Given the description of an element on the screen output the (x, y) to click on. 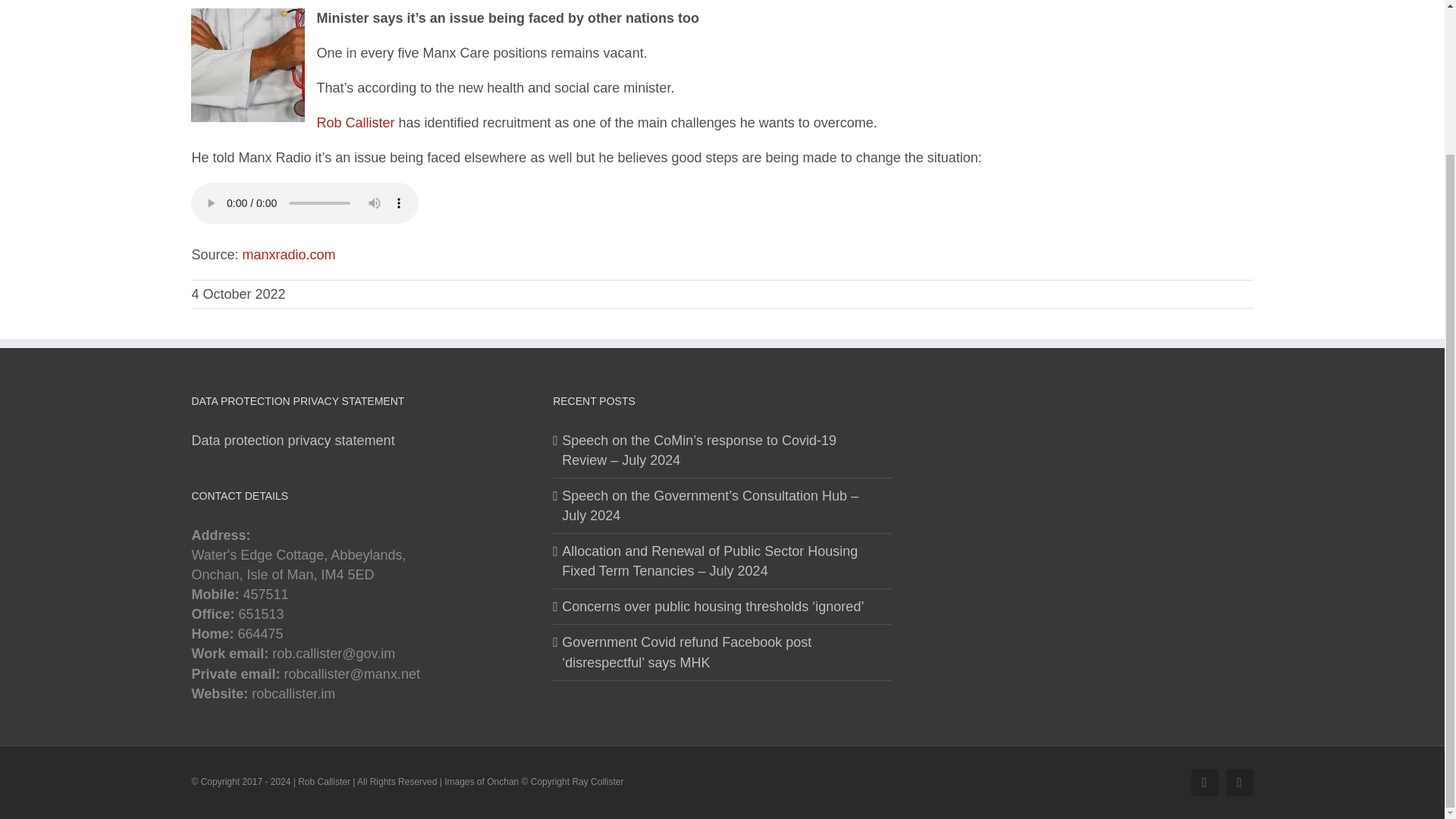
X (1238, 782)
Facebook (1204, 782)
